Given the description of an element on the screen output the (x, y) to click on. 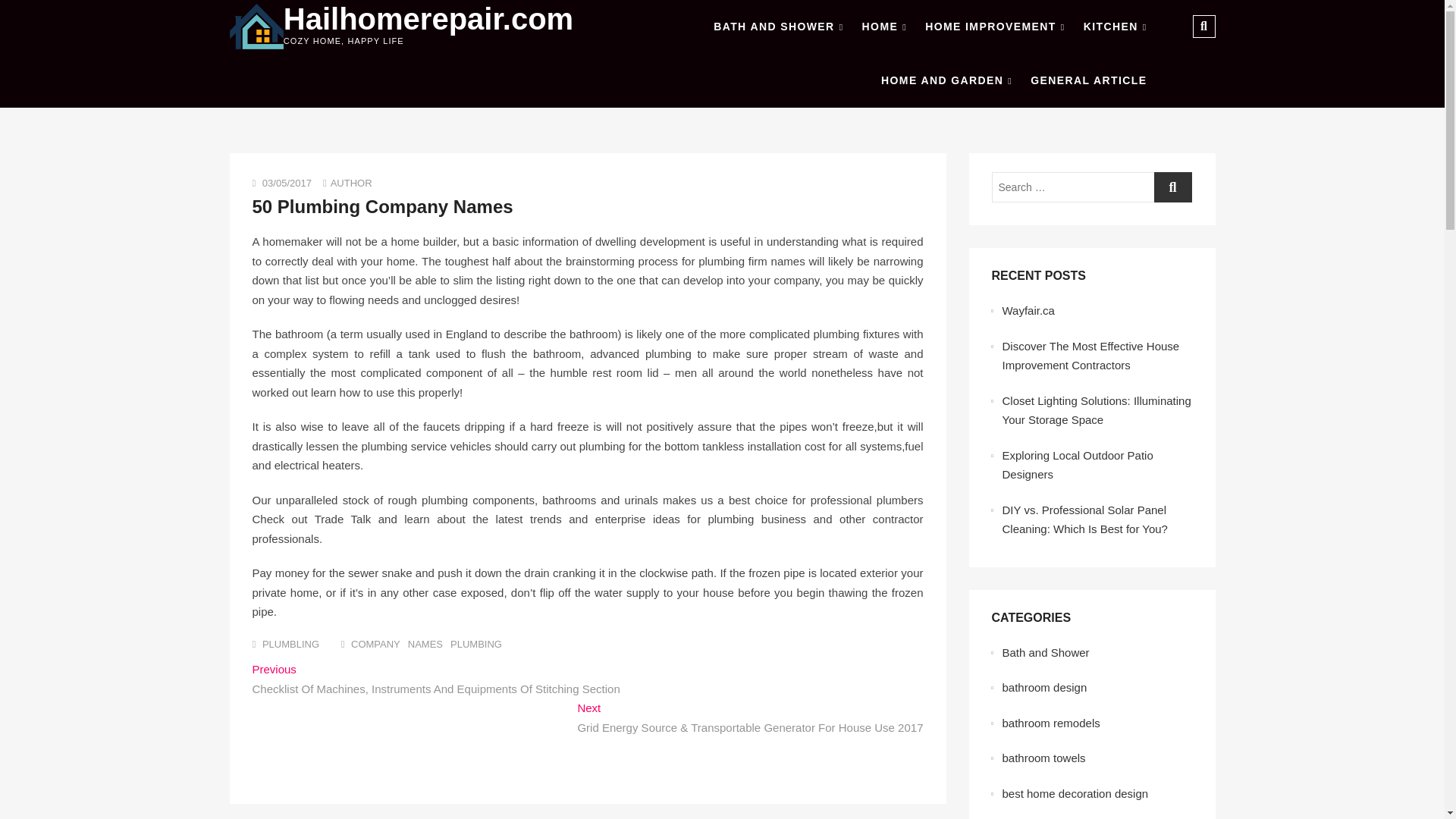
BATH AND SHOWER (778, 27)
KITCHEN (1114, 27)
HOME AND GARDEN (946, 80)
Hailhomerepair.com (428, 19)
AUTHOR (351, 183)
50 Plumbing Company Names (381, 206)
HOME (884, 27)
PLUMBLING (290, 644)
50 Plumbing Company Names (351, 183)
50 Plumbing Company Names (381, 206)
HOME IMPROVEMENT (994, 27)
GENERAL ARTICLE (1088, 80)
Hailhomerepair.com (428, 19)
